Given the description of an element on the screen output the (x, y) to click on. 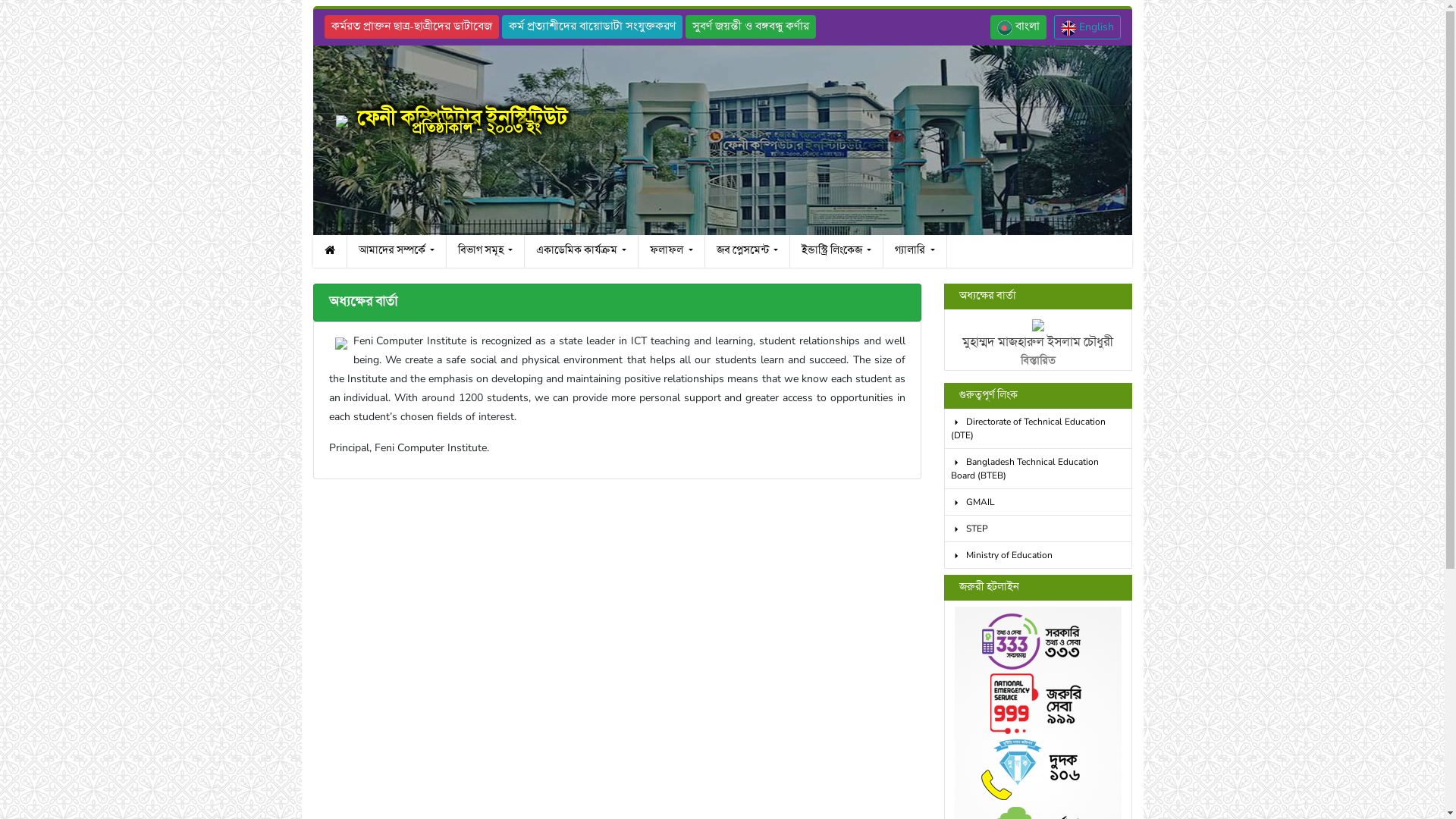
  Ministry of Education Element type: text (1038, 555)
  Directorate of Technical Education (DTE) Element type: text (1038, 428)
 English Element type: text (1087, 27)
  GMAIL Element type: text (1038, 502)
  Bangladesh Technical Education Board (BTEB) Element type: text (1038, 468)
  STEP Element type: text (1038, 528)
